Given the description of an element on the screen output the (x, y) to click on. 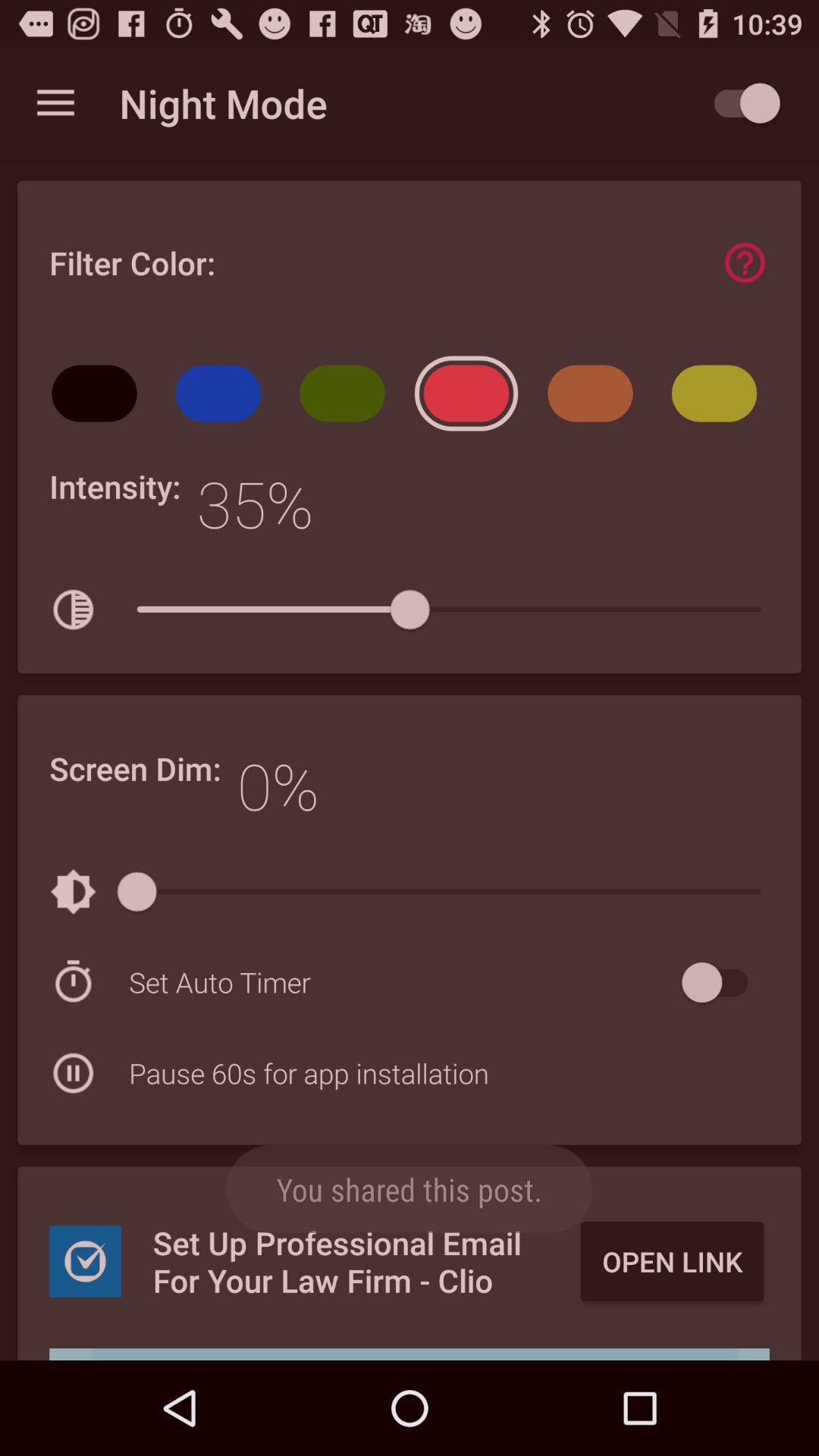
set auto timer on/off (722, 982)
